Given the description of an element on the screen output the (x, y) to click on. 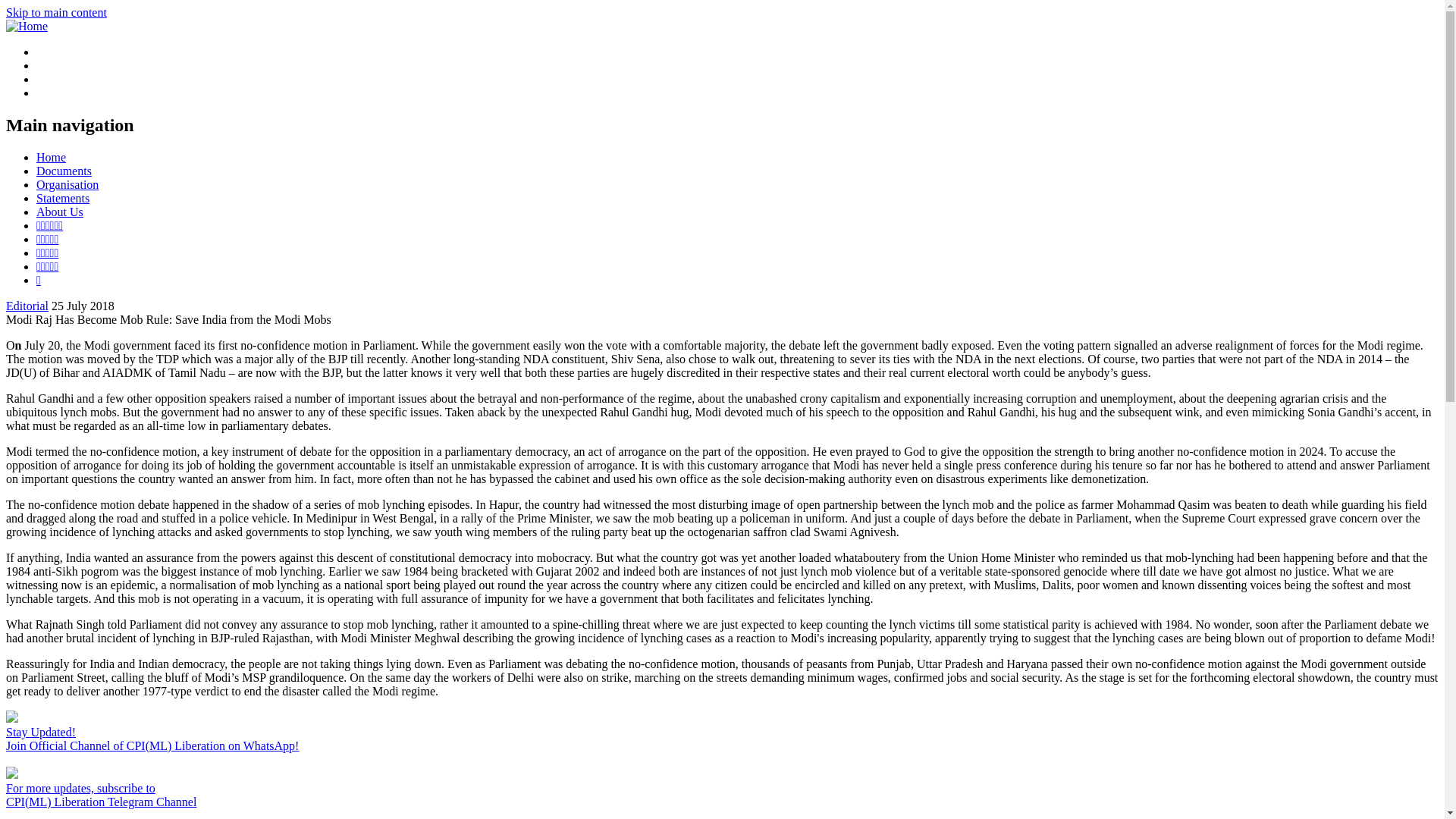
Documents (63, 170)
About Us (59, 211)
Skip to main content (55, 11)
Party Documents (63, 170)
Editorial (26, 305)
Home (50, 156)
About Us (59, 211)
Statements (62, 197)
Organisation (67, 184)
karnataka web site (47, 266)
